Given the description of an element on the screen output the (x, y) to click on. 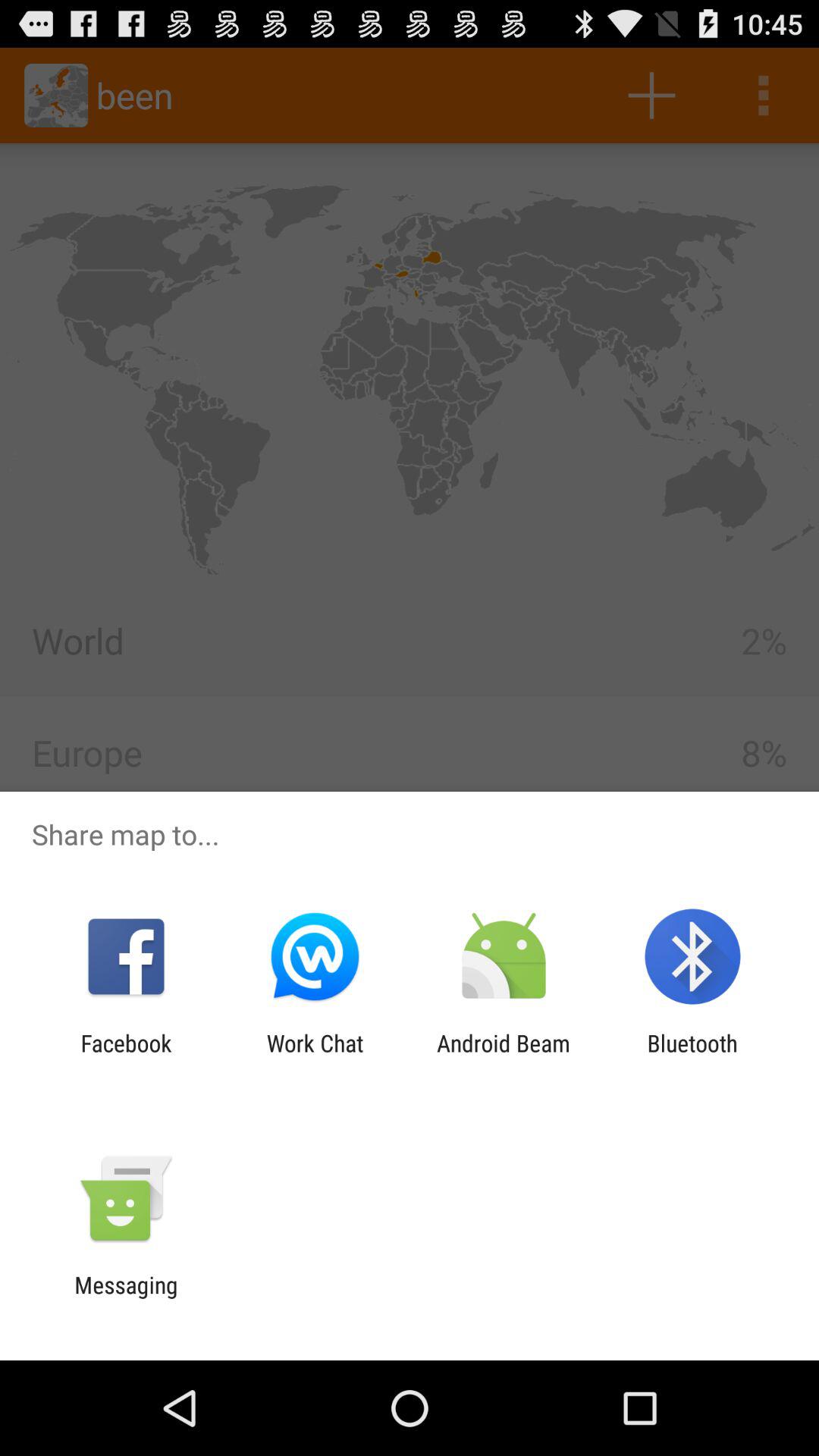
click app next to android beam item (314, 1056)
